Given the description of an element on the screen output the (x, y) to click on. 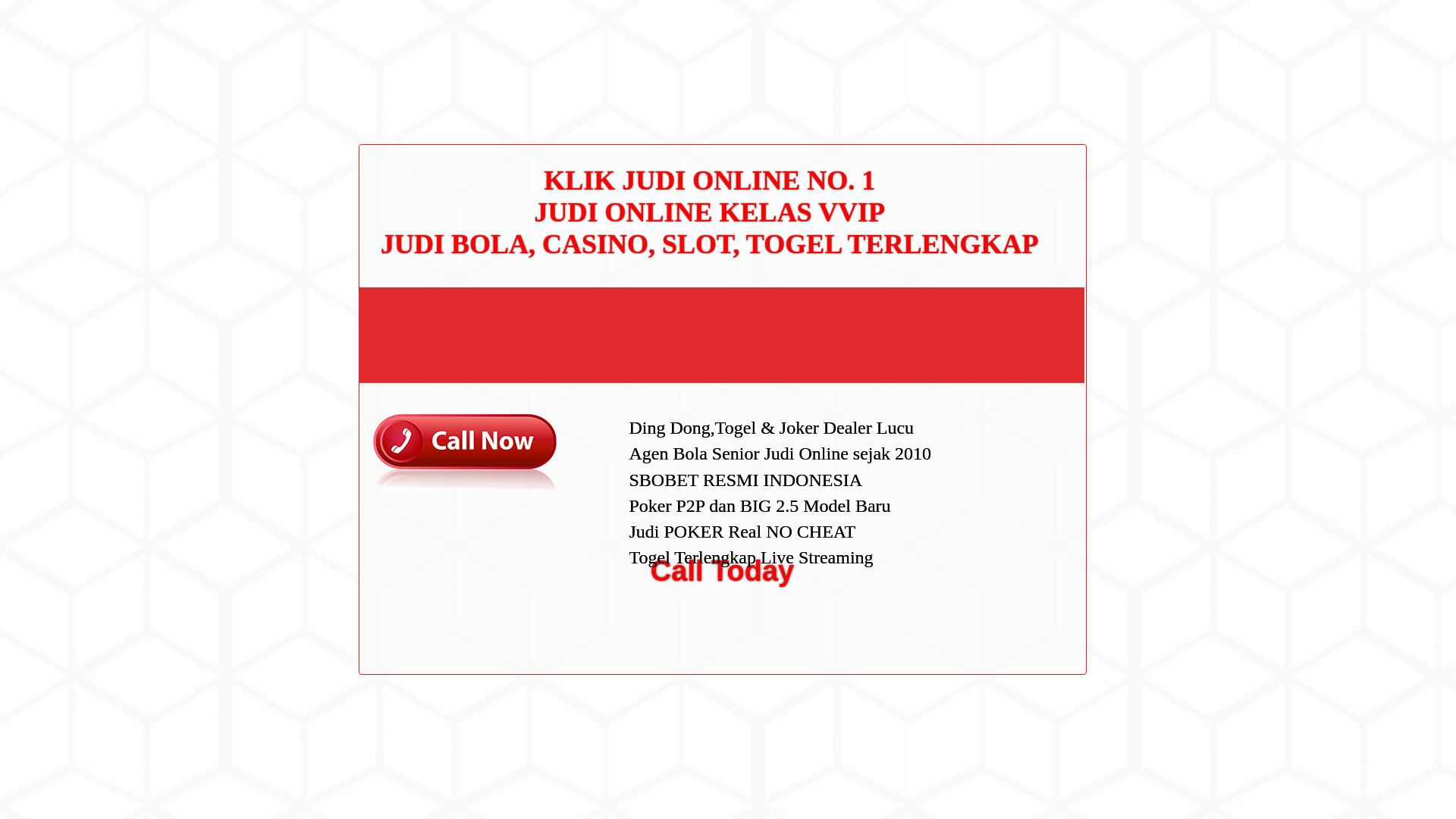
Latest Article (996, 172)
Log in (980, 588)
Skip to content (34, 9)
Privacy Policy (999, 306)
Search (1050, 85)
DMCA Policy (996, 282)
Blog (976, 510)
ADMINISTRATOR (417, 81)
KANONSPORTS.COM (403, 28)
Terms of Use (996, 330)
Search for: (1049, 47)
Search (1050, 85)
Search (1050, 85)
July 2020 (988, 432)
RSS (977, 612)
